Given the description of an element on the screen output the (x, y) to click on. 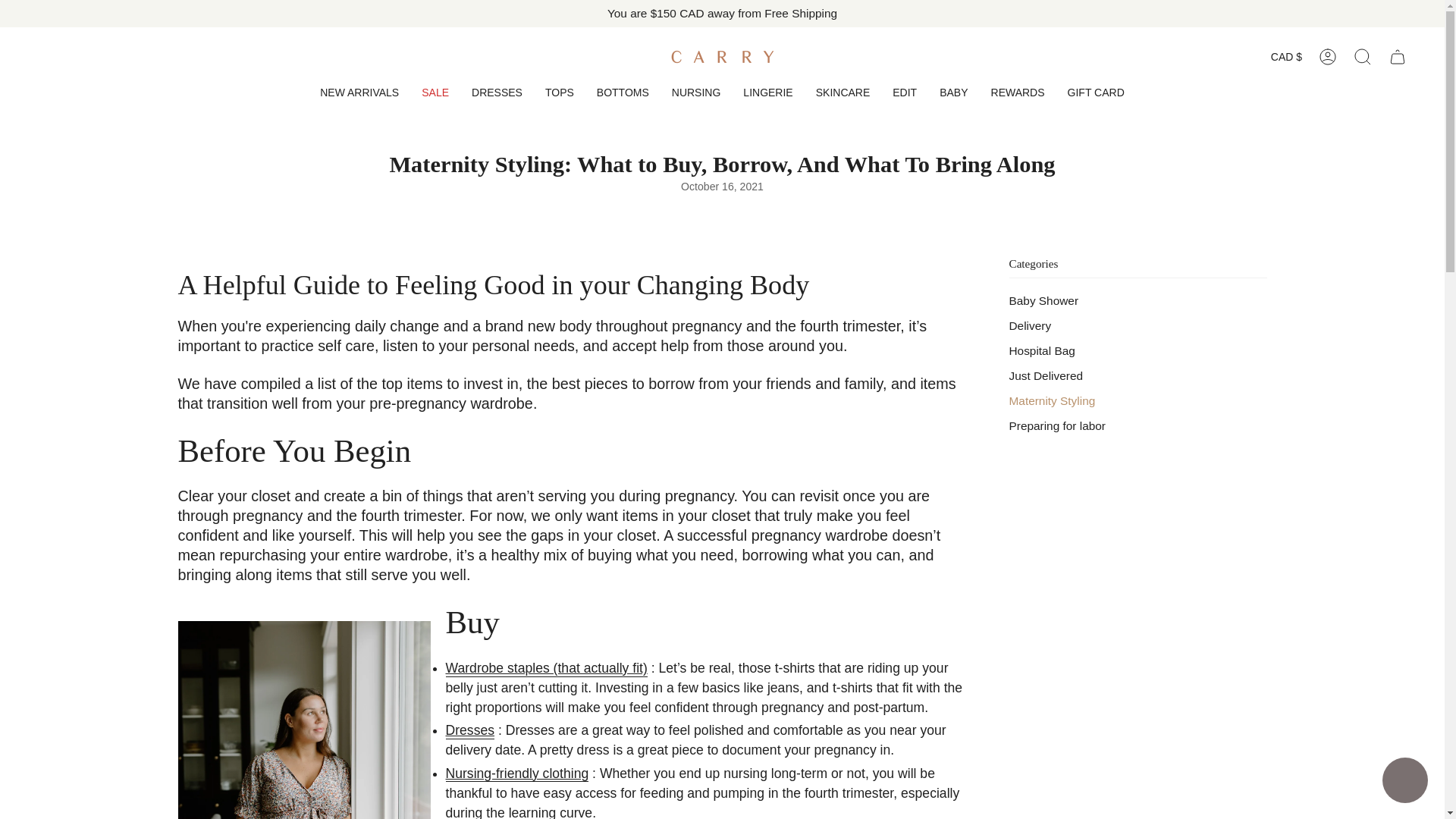
Search (1362, 56)
Cart (1397, 56)
ACCOUNT (1327, 56)
My Account (1327, 56)
